Given the description of an element on the screen output the (x, y) to click on. 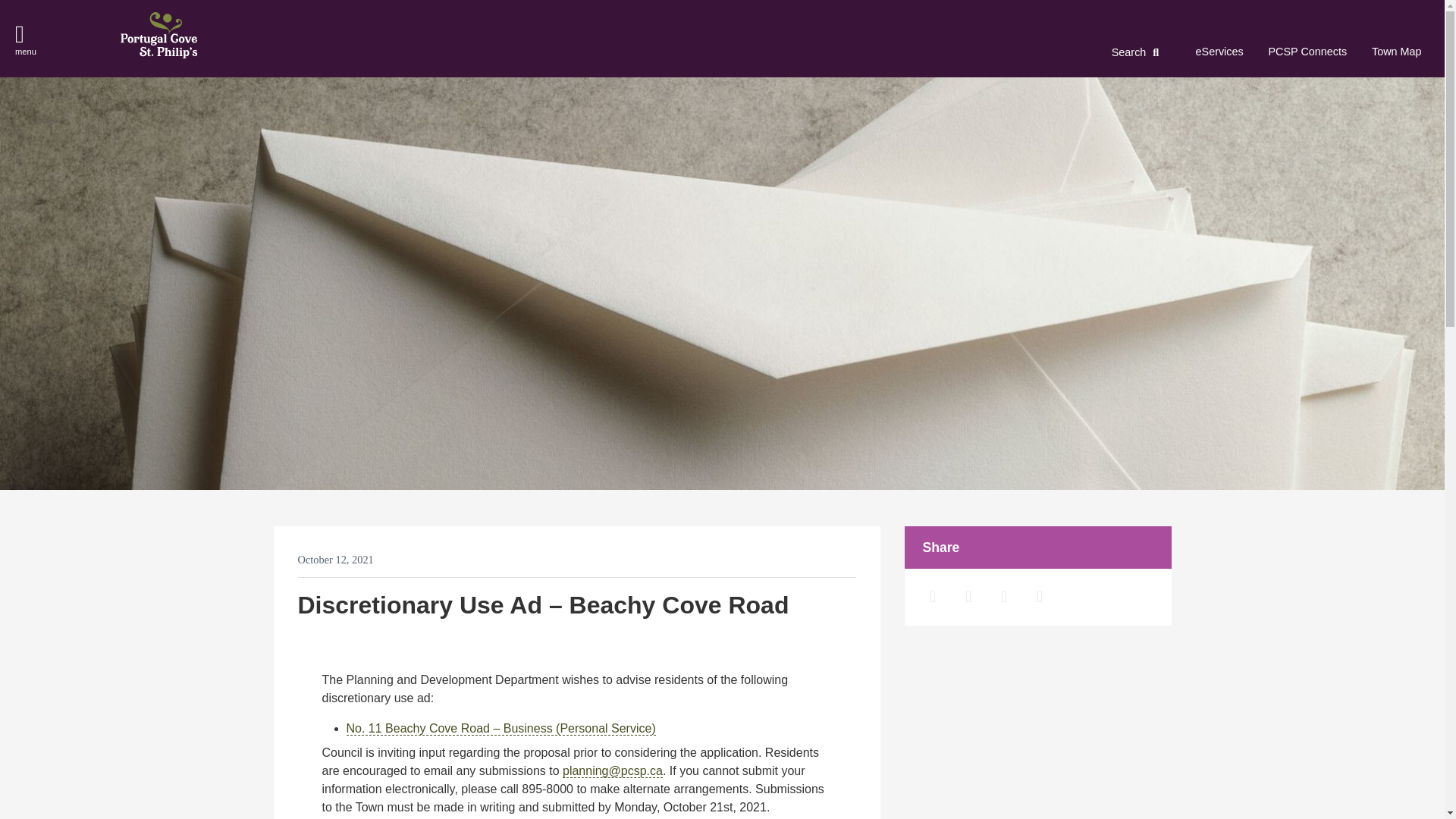
Town Map (1396, 51)
WaterWerks Agency (727, 799)
eServices (1219, 51)
PCSP Connects (1307, 51)
